Given the description of an element on the screen output the (x, y) to click on. 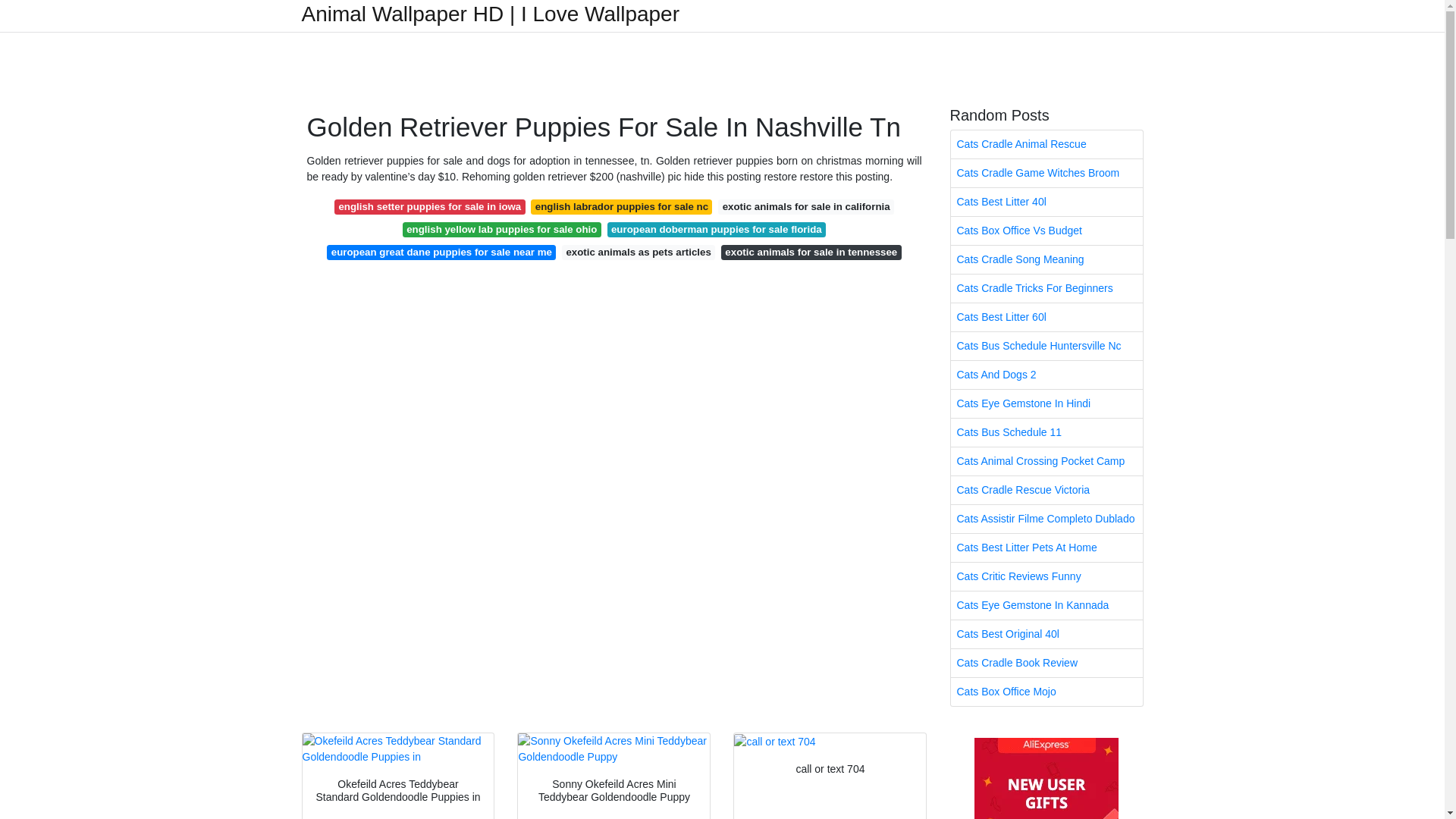
european great dane puppies for sale near me (441, 252)
Cats Cradle Tricks For Beginners (1046, 288)
Cats Cradle Game Witches Broom (1046, 172)
exotic animals for sale in tennessee (810, 252)
Cats Box Office Vs Budget (1046, 230)
Cats Cradle Song Meaning (1046, 259)
Cats Best Litter 40l (1046, 202)
Cats And Dogs 2 (1046, 375)
exotic animals for sale in california (805, 206)
Cats Eye Gemstone In Hindi (1046, 403)
